Given the description of an element on the screen output the (x, y) to click on. 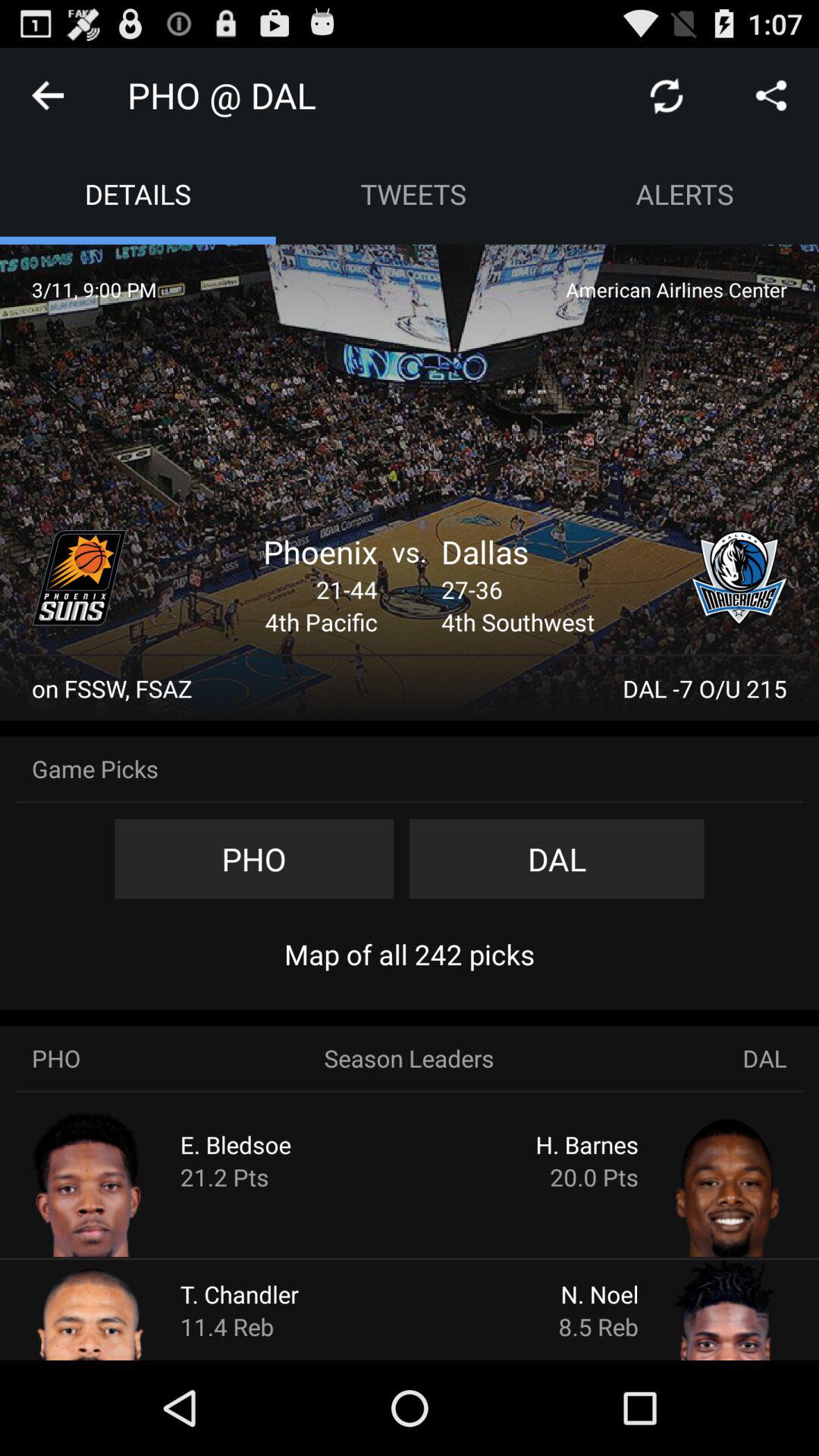
share the article (771, 95)
